Given the description of an element on the screen output the (x, y) to click on. 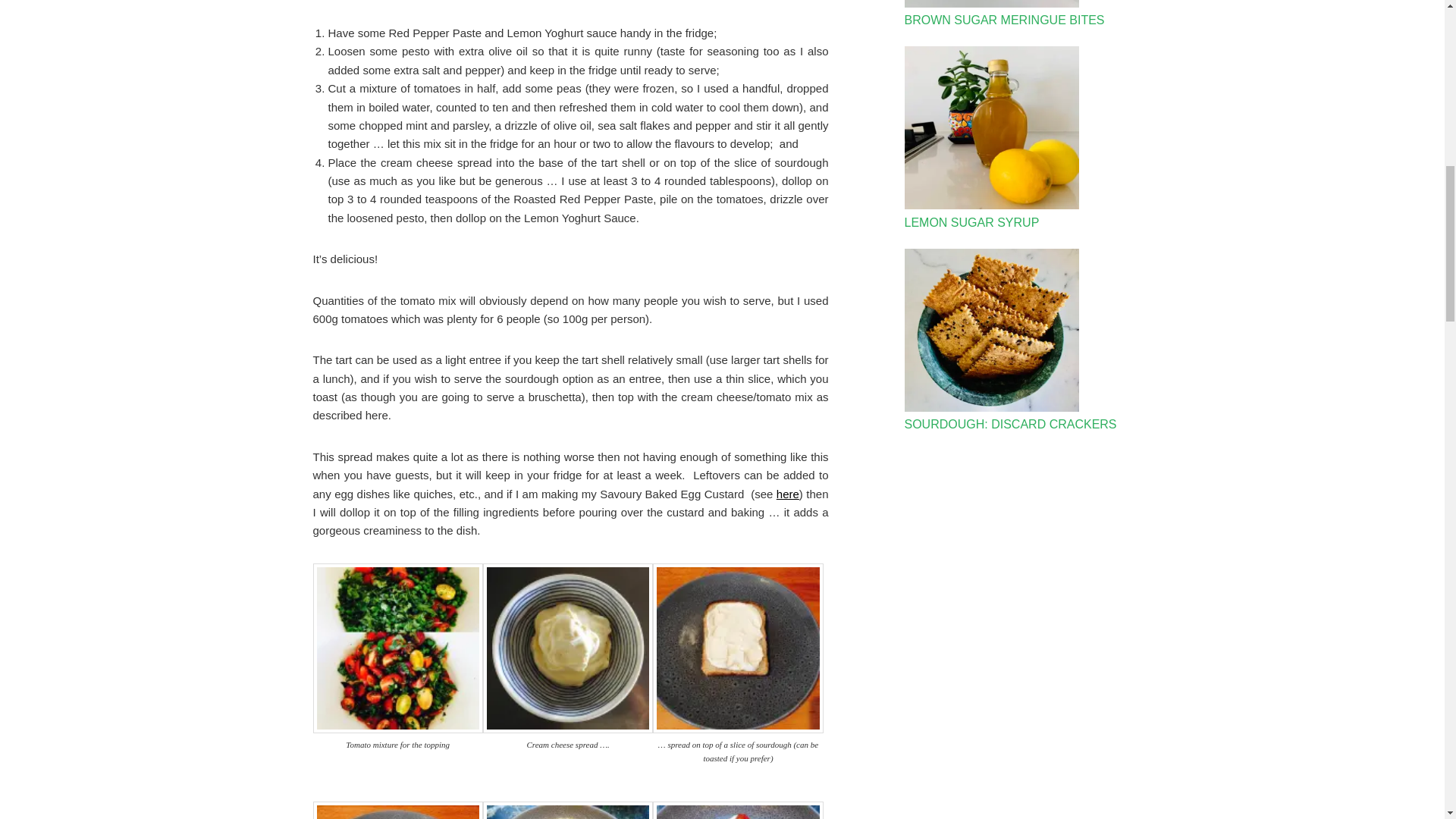
Brown Sugar Meringue Bites (991, 6)
